Given the description of an element on the screen output the (x, y) to click on. 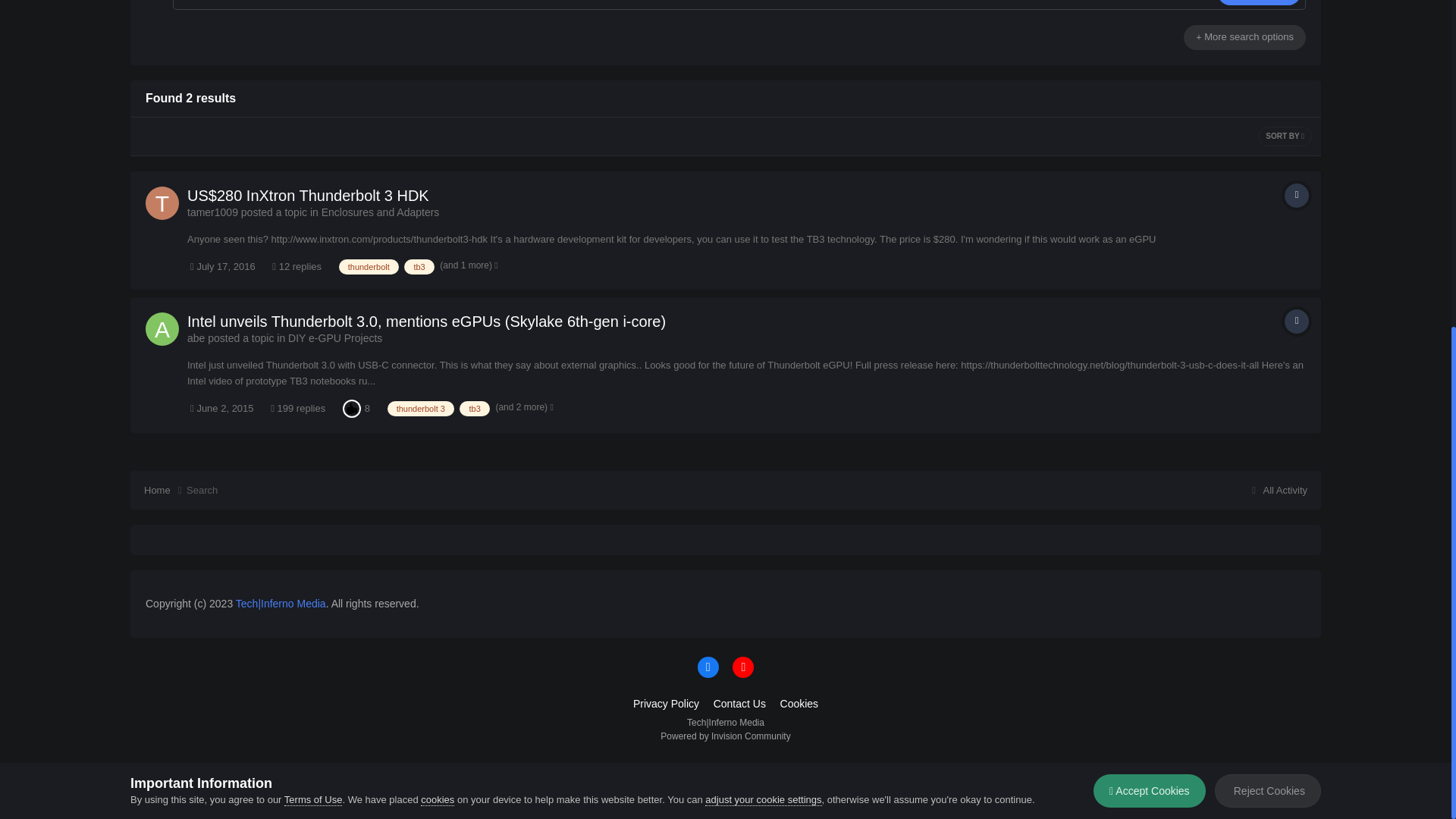
Go to tamer1009's profile (162, 203)
Search Again (1258, 2)
Find other content tagged with 'thunderbolt' (368, 266)
Go to abe's profile (196, 337)
Go to abe's profile (162, 328)
Topic (1296, 321)
Find other content tagged with 'thunderbolt 3' (420, 408)
Topic (1296, 195)
Go to tamer1009's profile (212, 212)
More search options (1244, 37)
Find other content tagged with 'tb3' (418, 266)
Thumbs Up (351, 407)
